Given the description of an element on the screen output the (x, y) to click on. 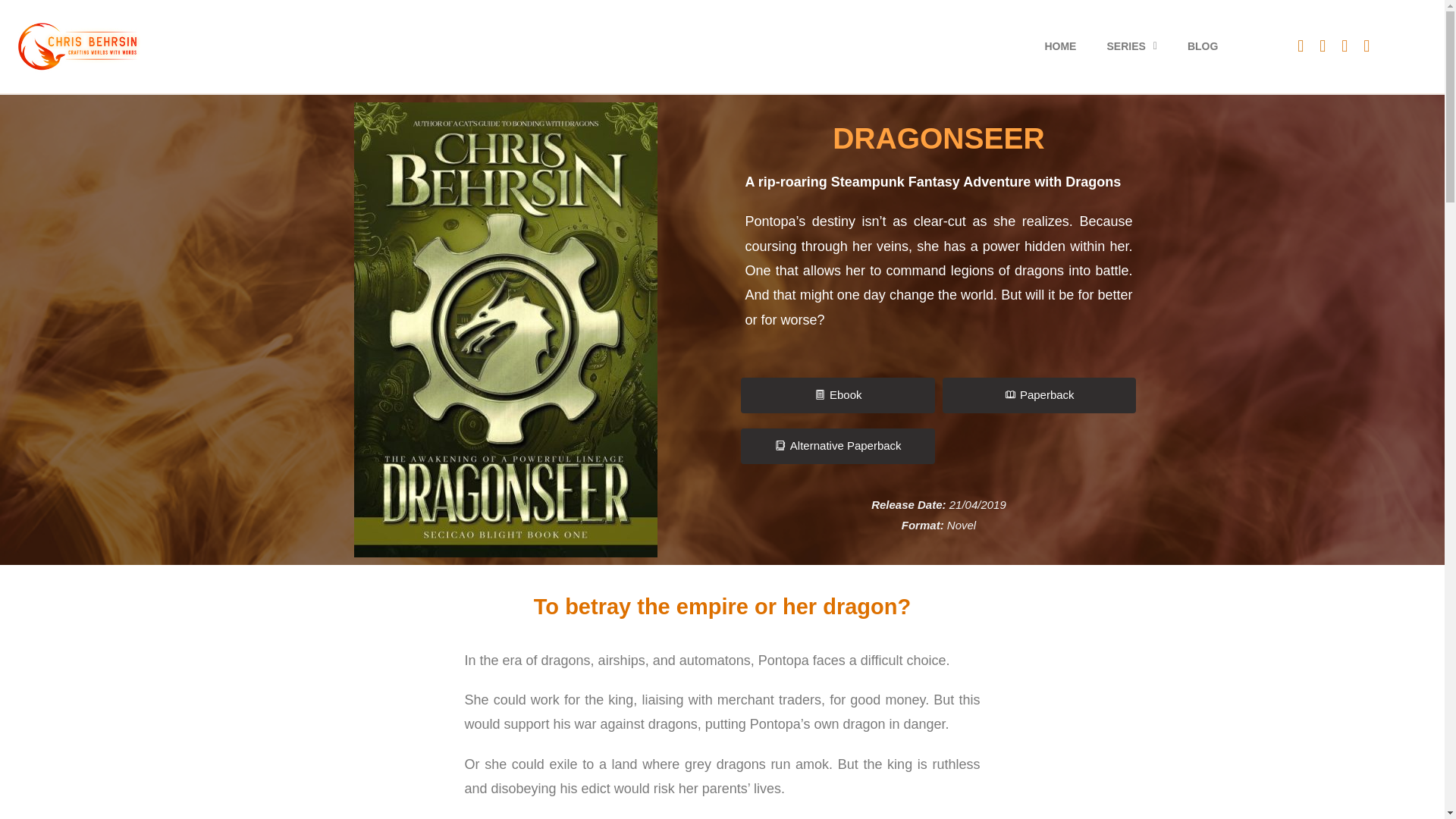
HOME (1059, 45)
SERIES (1131, 45)
BLOG (1202, 45)
